Given the description of an element on the screen output the (x, y) to click on. 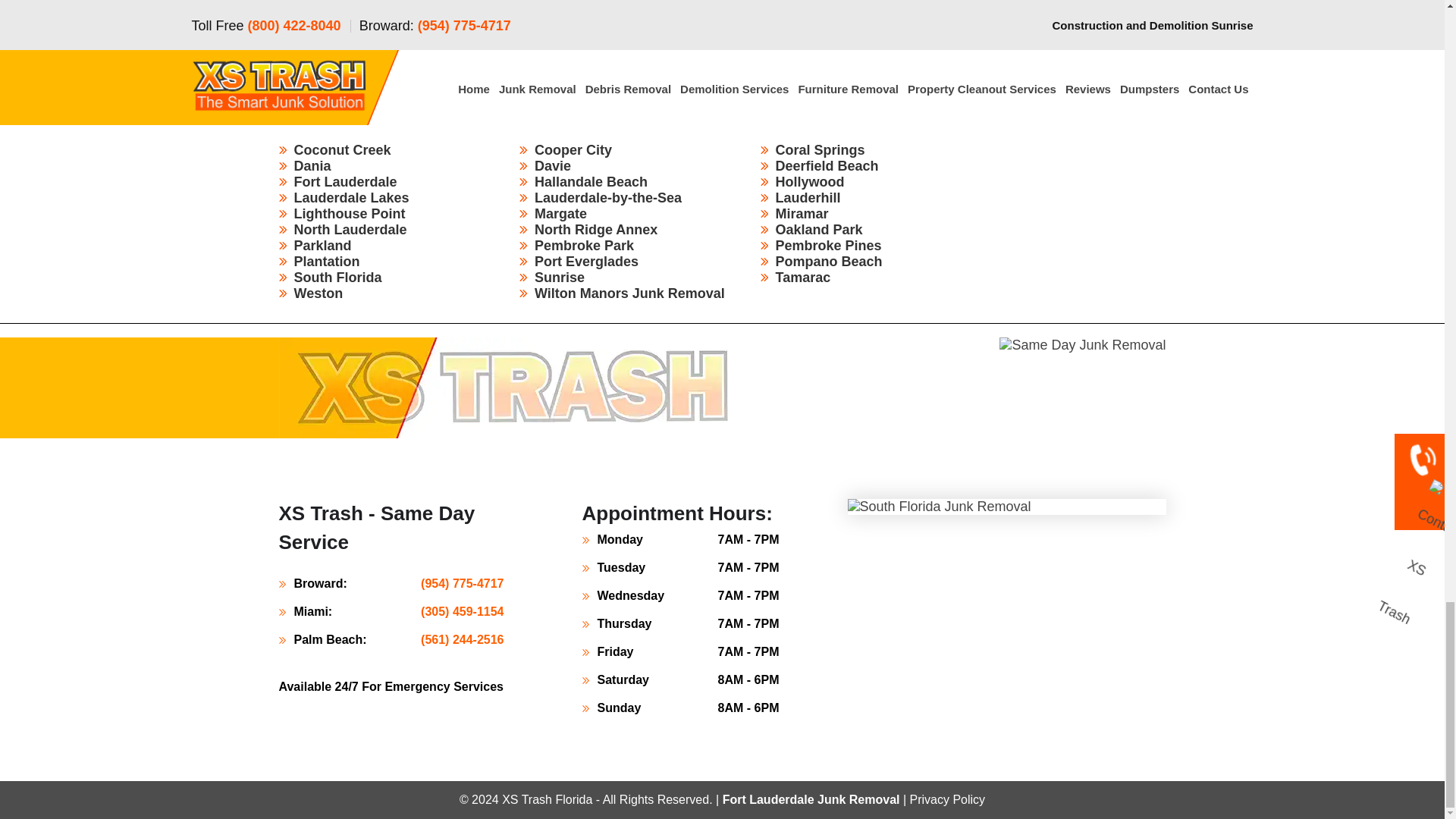
Hollywood (809, 181)
Deerfield Beach (825, 165)
Lauderhill (807, 197)
Lauderdale-by-the-Sea (607, 197)
Lauderdale Lakes (351, 197)
Margate (560, 213)
Lighthouse Point (350, 213)
Fort Lauderdale (345, 181)
Hallandale Beach (590, 181)
Dania (312, 165)
Davie (552, 165)
Cooper City (572, 150)
Coral Springs (819, 150)
Coconut Creek (342, 150)
